Given the description of an element on the screen output the (x, y) to click on. 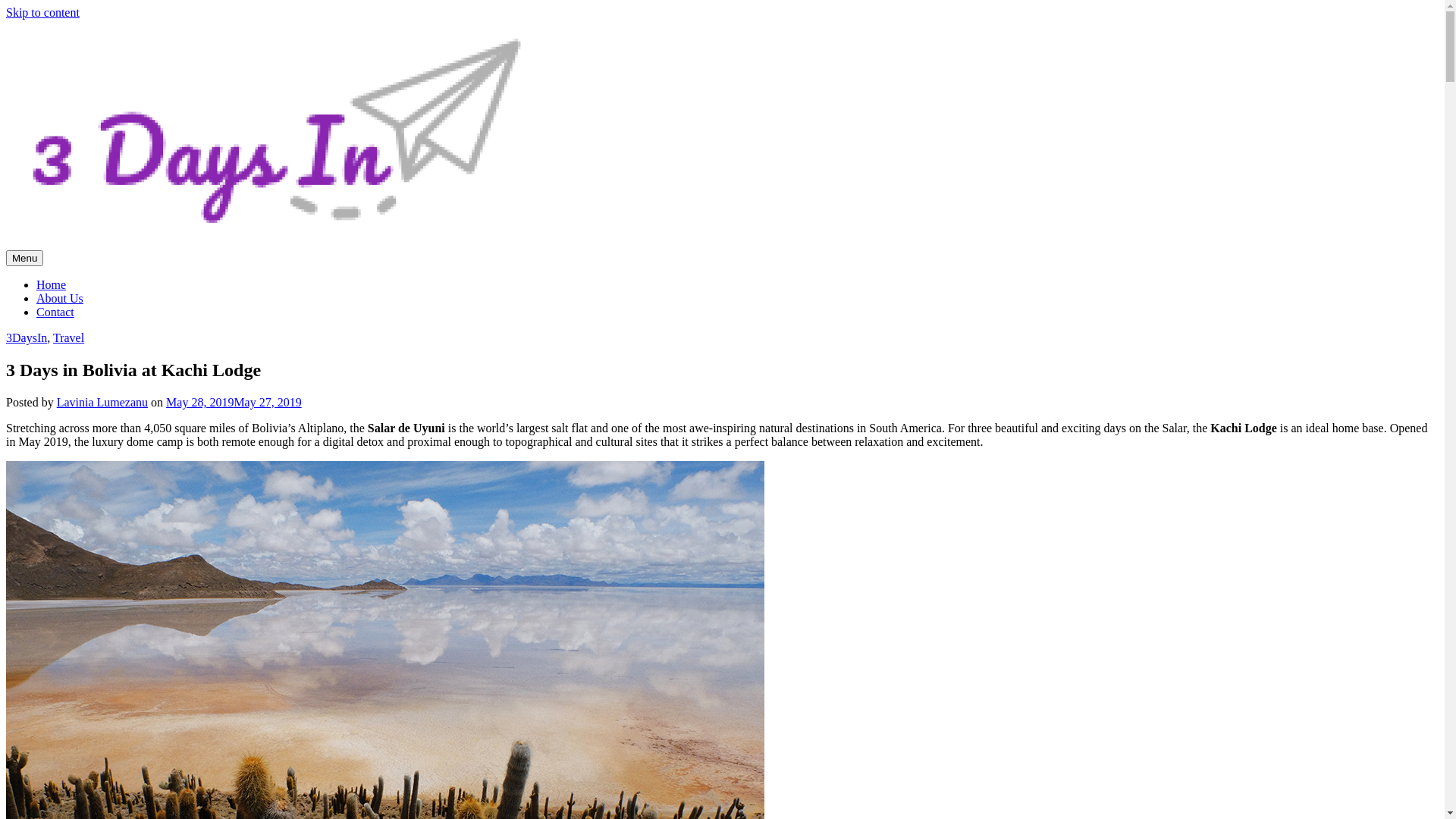
3DaysIn Element type: text (26, 337)
About Us Element type: text (59, 297)
Lavinia Lumezanu Element type: text (101, 401)
May 28, 2019May 27, 2019 Element type: text (233, 401)
Travel Element type: text (68, 337)
3 Days In Element type: text (55, 279)
Home Element type: text (50, 284)
Contact Element type: text (55, 311)
Menu Element type: text (24, 258)
Skip to content Element type: text (42, 12)
